Given the description of an element on the screen output the (x, y) to click on. 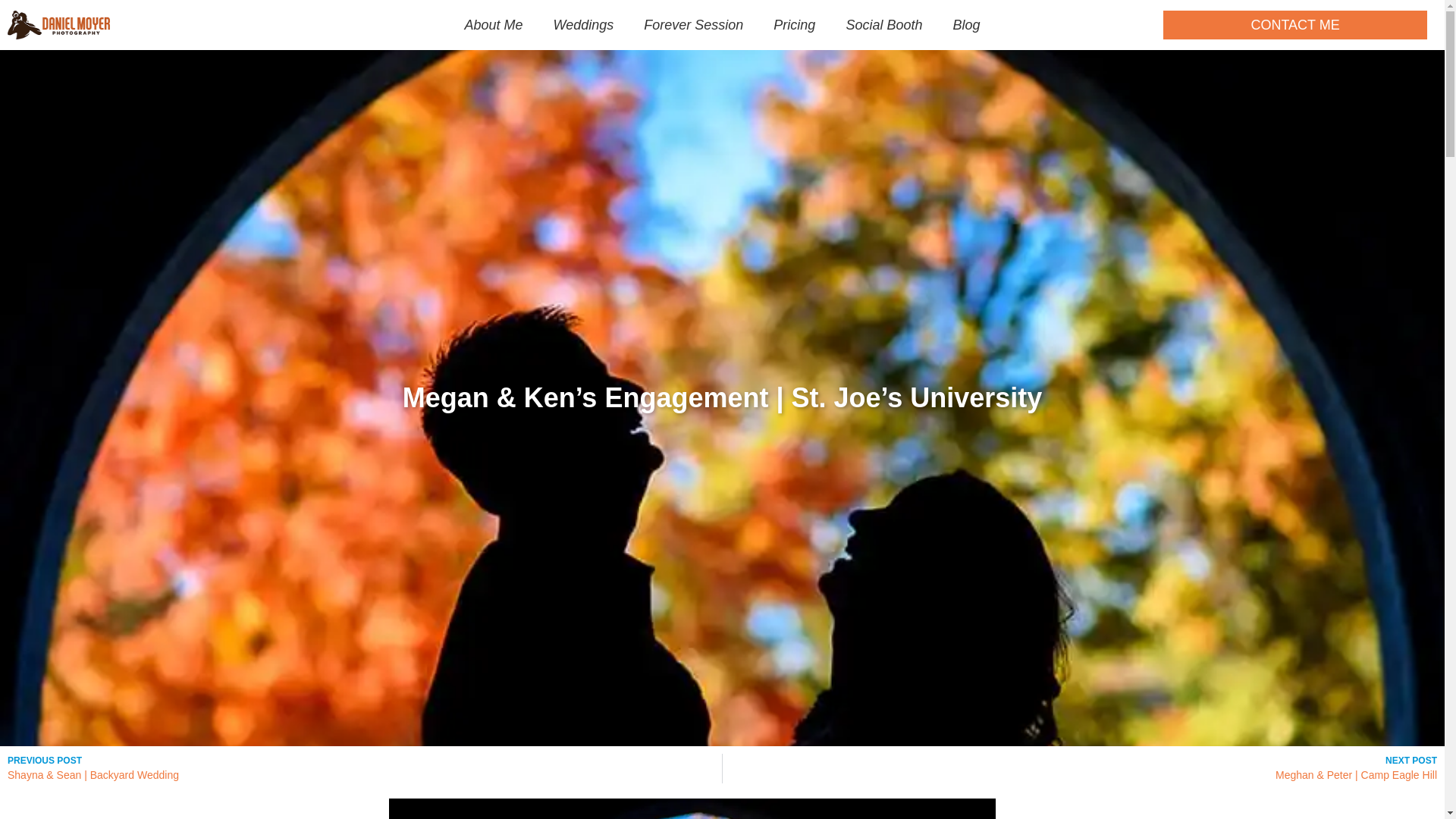
Blog (965, 24)
Social Booth (883, 24)
Weddings (583, 24)
About Me (493, 24)
Pricing (793, 24)
Forever Session (693, 24)
CONTACT ME (1294, 24)
